Given the description of an element on the screen output the (x, y) to click on. 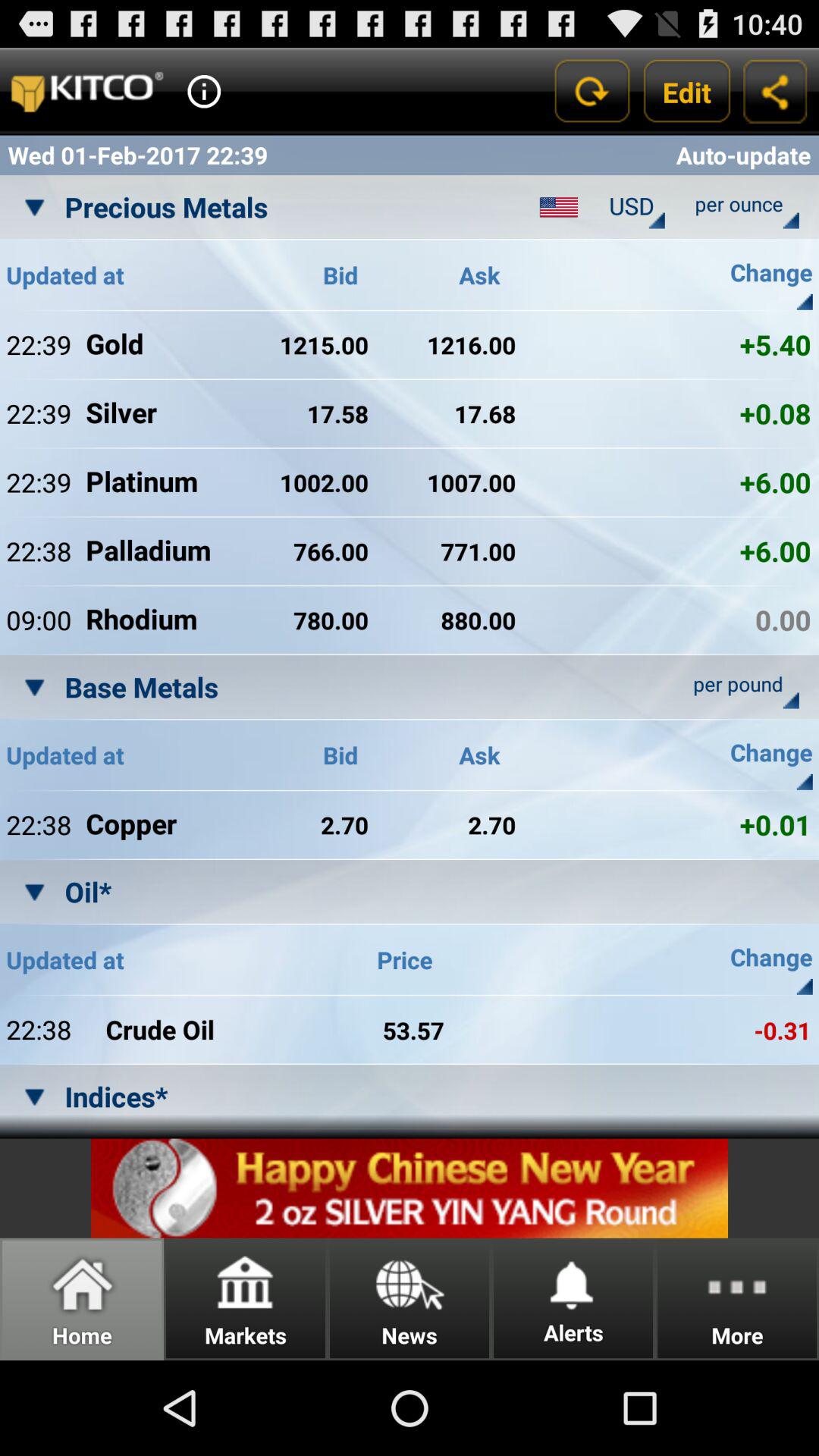
share botton (775, 91)
